Given the description of an element on the screen output the (x, y) to click on. 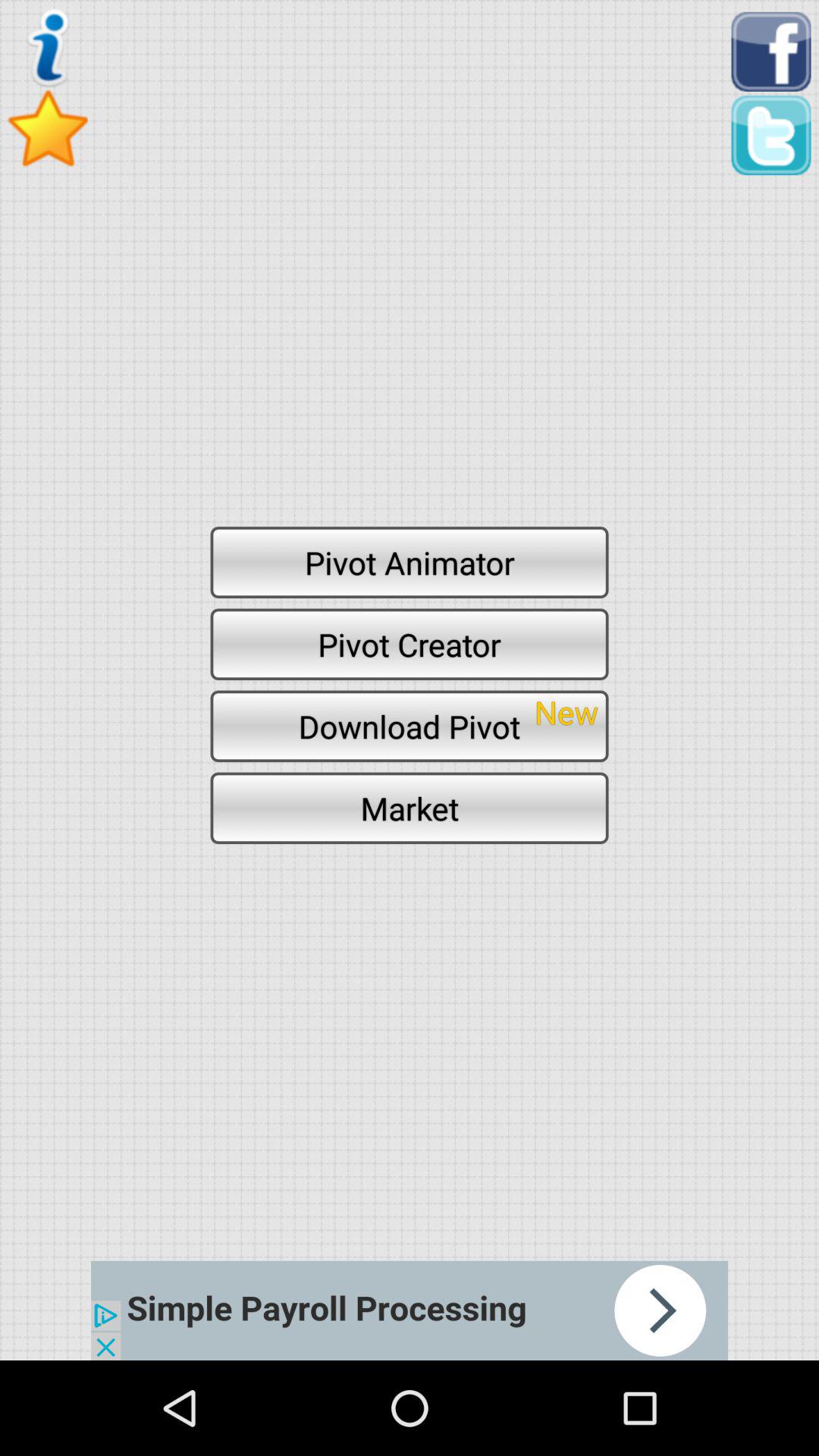
launch button below the download pivot (409, 808)
